Given the description of an element on the screen output the (x, y) to click on. 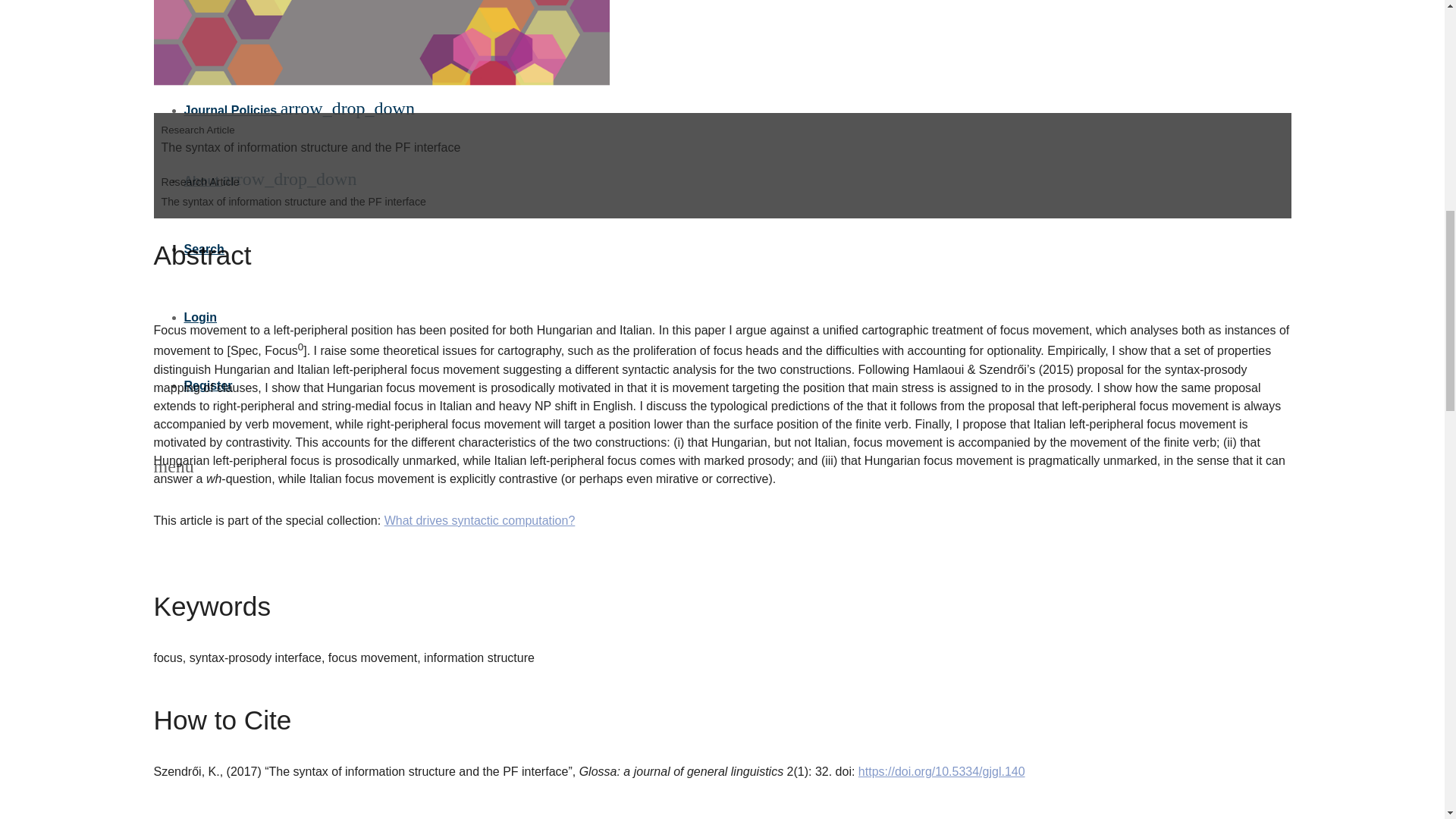
menu (172, 468)
Login (199, 317)
Register (207, 385)
Search (203, 248)
